Given the description of an element on the screen output the (x, y) to click on. 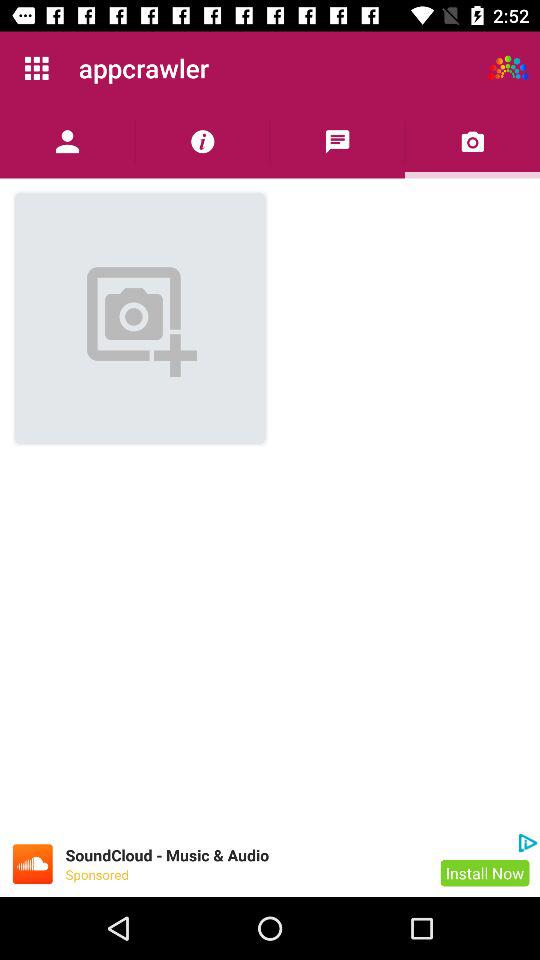
person (67, 141)
